Given the description of an element on the screen output the (x, y) to click on. 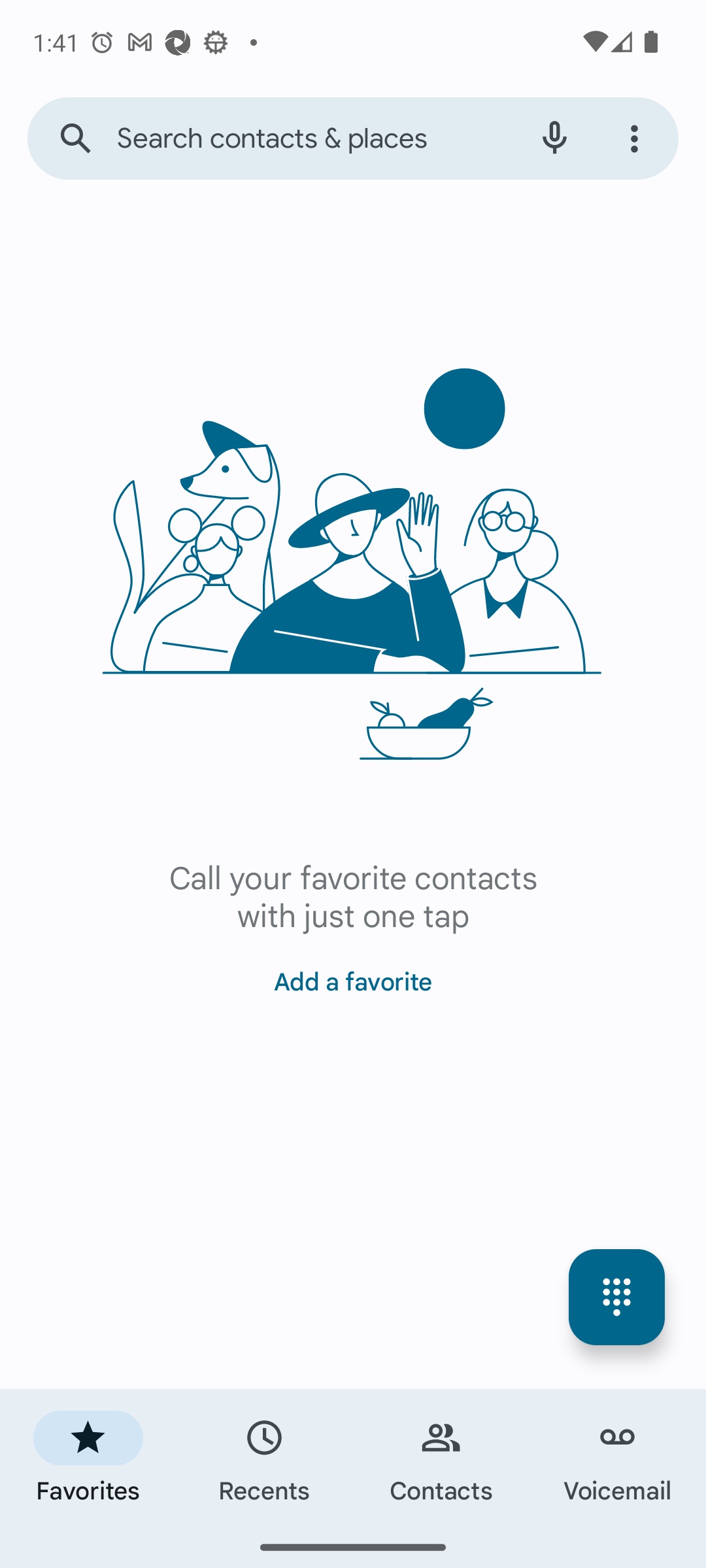
Start voice search (554, 138)
More options (636, 138)
Add a favorite (353, 973)
key pad (617, 1297)
Recents (264, 1458)
Contacts (441, 1458)
Voicemail (617, 1458)
